Given the description of an element on the screen output the (x, y) to click on. 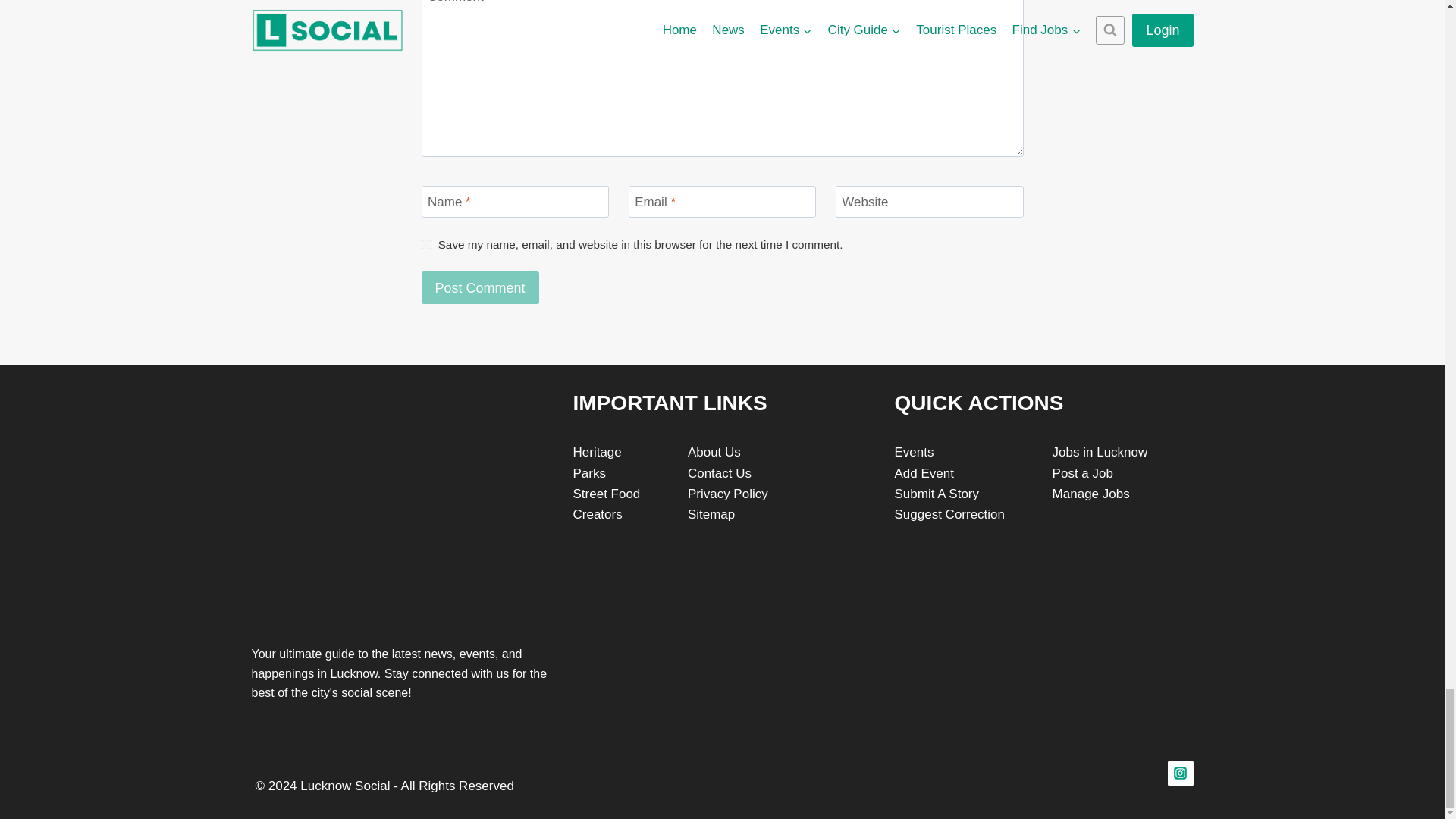
Post Comment (480, 287)
yes (426, 244)
